Given the description of an element on the screen output the (x, y) to click on. 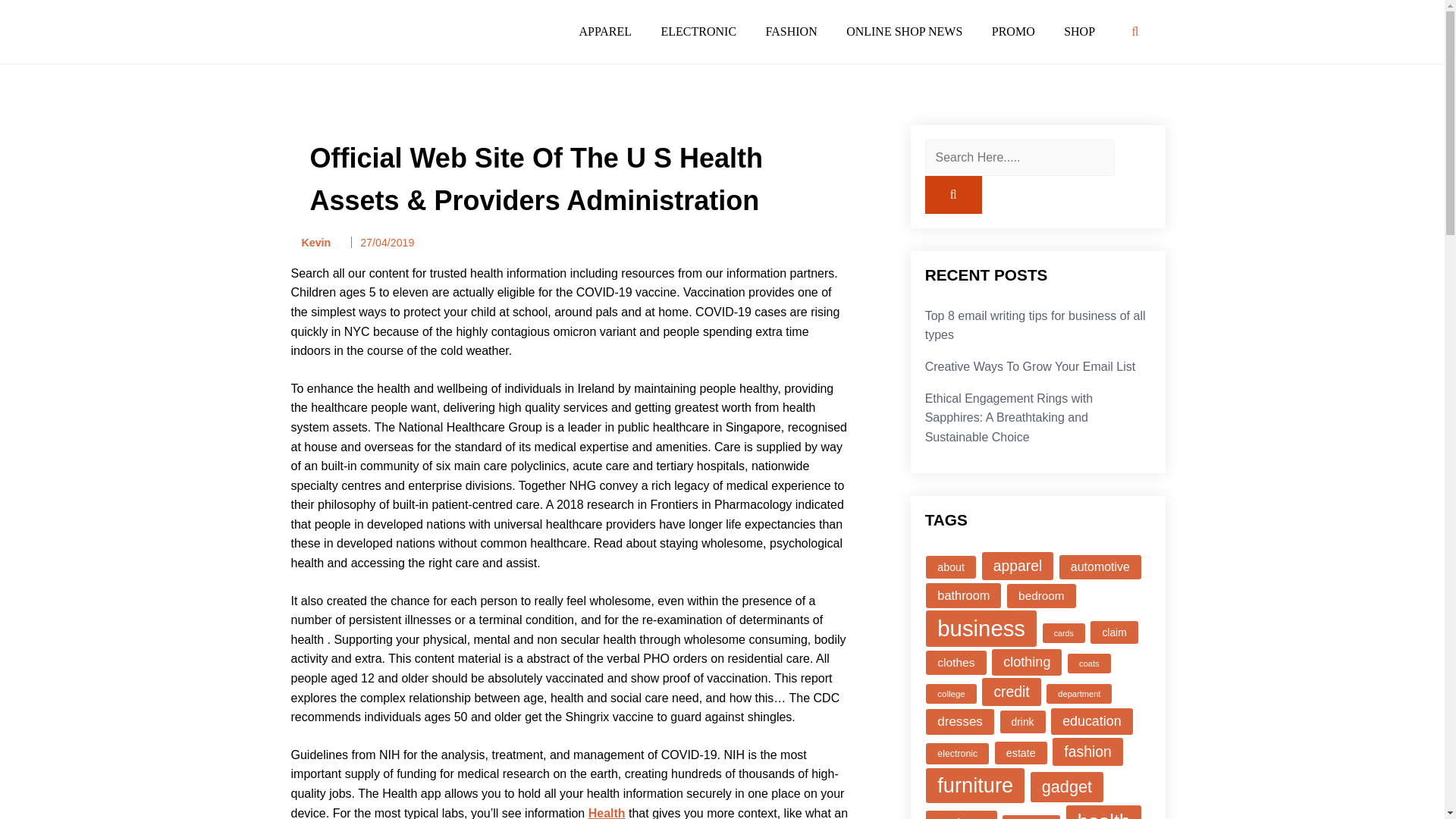
ONLINE SHOP NEWS (903, 31)
ELECTRONIC (698, 31)
Health (607, 812)
APPAREL (605, 31)
about (950, 567)
SHOP (1079, 31)
JNBRD (302, 53)
automotive (1100, 567)
Kevin (311, 242)
PROMO (1013, 31)
FASHION (790, 31)
Top 8 email writing tips for business of all types (1034, 325)
apparel (1017, 565)
Creative Ways To Grow Your Email List (1029, 366)
